Given the description of an element on the screen output the (x, y) to click on. 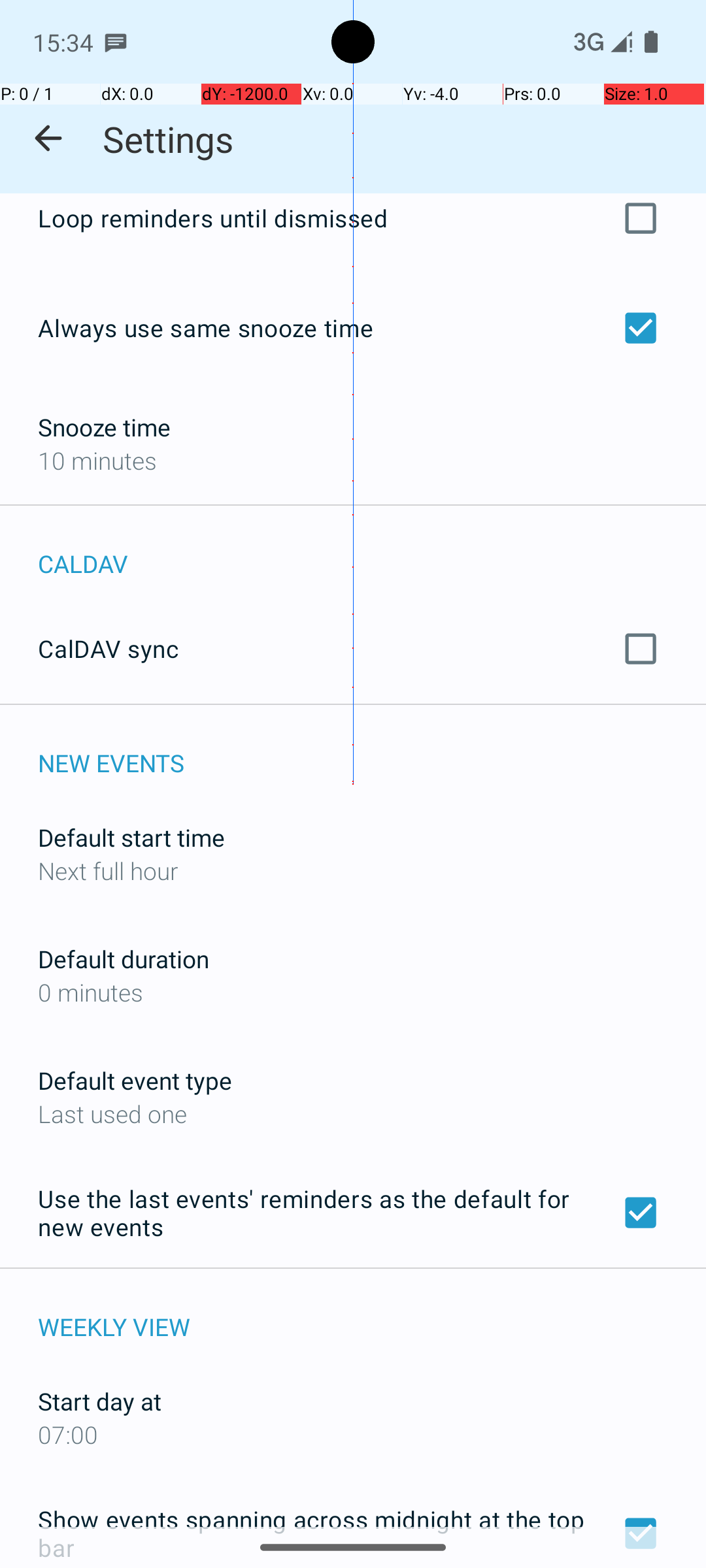
CALDAV Element type: android.widget.TextView (371, 549)
NEW EVENTS Element type: android.widget.TextView (371, 748)
WEEKLY VIEW Element type: android.widget.TextView (371, 1312)
Loop reminders until dismissed Element type: android.widget.CheckBox (352, 226)
Always use same snooze time Element type: android.widget.CheckBox (352, 327)
Snooze time Element type: android.widget.TextView (104, 426)
10 minutes Element type: android.widget.TextView (352, 459)
CalDAV sync Element type: android.widget.CheckBox (352, 648)
Default start time Element type: android.widget.TextView (130, 836)
Next full hour Element type: android.widget.TextView (352, 870)
Default duration Element type: android.widget.TextView (123, 958)
0 minutes Element type: android.widget.TextView (352, 991)
Default event type Element type: android.widget.TextView (134, 1079)
Last used one Element type: android.widget.TextView (352, 1113)
Use the last events' reminders as the default for new events Element type: android.widget.CheckBox (352, 1212)
Start day at Element type: android.widget.TextView (99, 1400)
07:00 Element type: android.widget.TextView (352, 1434)
Show events spanning across midnight at the top bar Element type: android.widget.CheckBox (352, 1530)
